Given the description of an element on the screen output the (x, y) to click on. 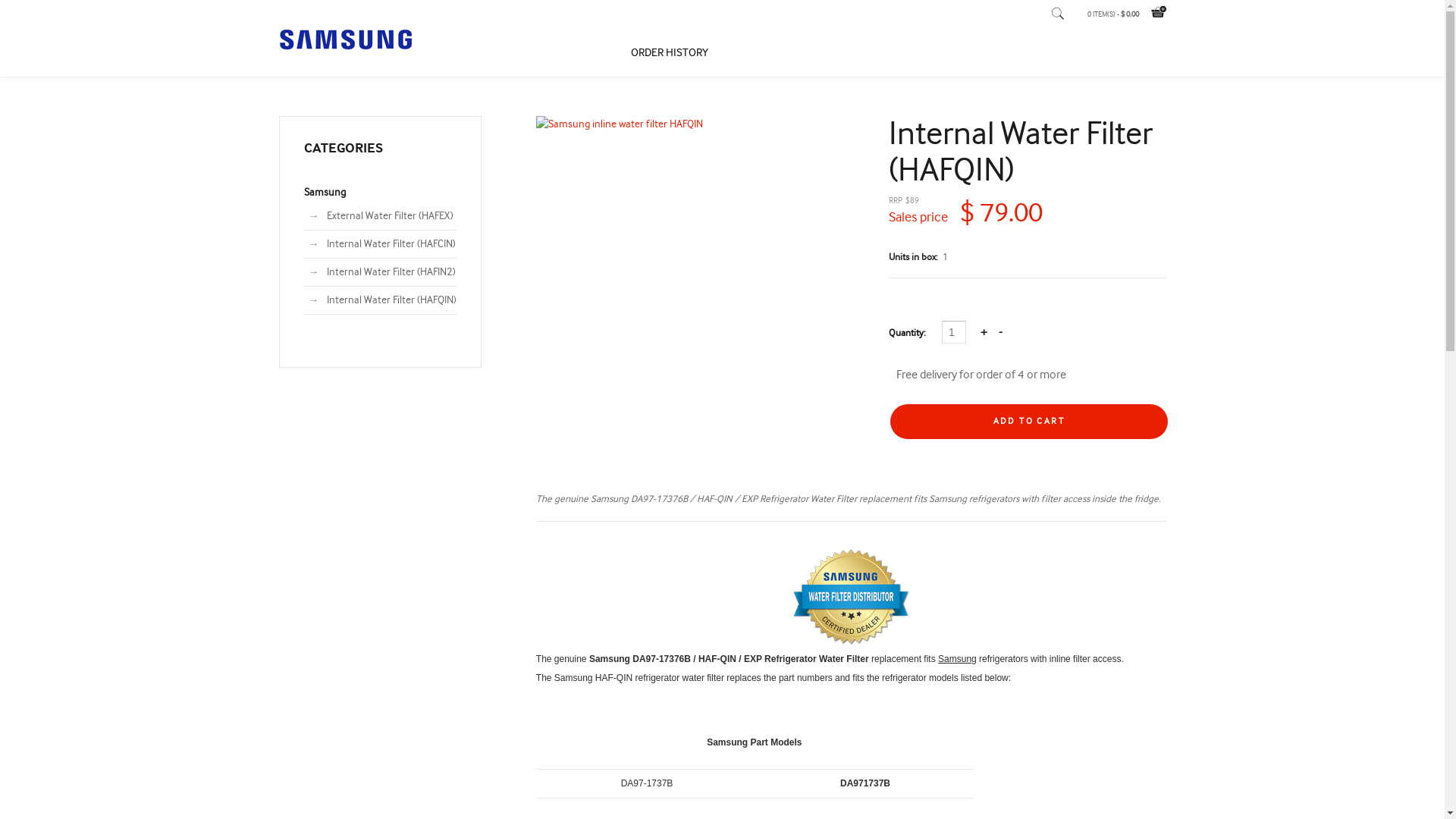
External Water Filter (HAFEX) Element type: text (389, 215)
Internal Water Filter (HAFIN2) Element type: text (390, 272)
Samsung Element type: text (324, 192)
Samsung inline water filter HAFQIN Element type: hover (693, 124)
Internal Water Filter (HAFQIN) Element type: text (390, 300)
WATER FILTERS Element type: text (549, 52)
ORDER HISTORY Element type: text (669, 52)
Internal Water Filter (HAFCIN) Element type: text (390, 244)
Add to Cart Element type: hover (1028, 421)
Add to Cart Element type: text (1028, 421)
1 Element type: text (953, 331)
